Given the description of an element on the screen output the (x, y) to click on. 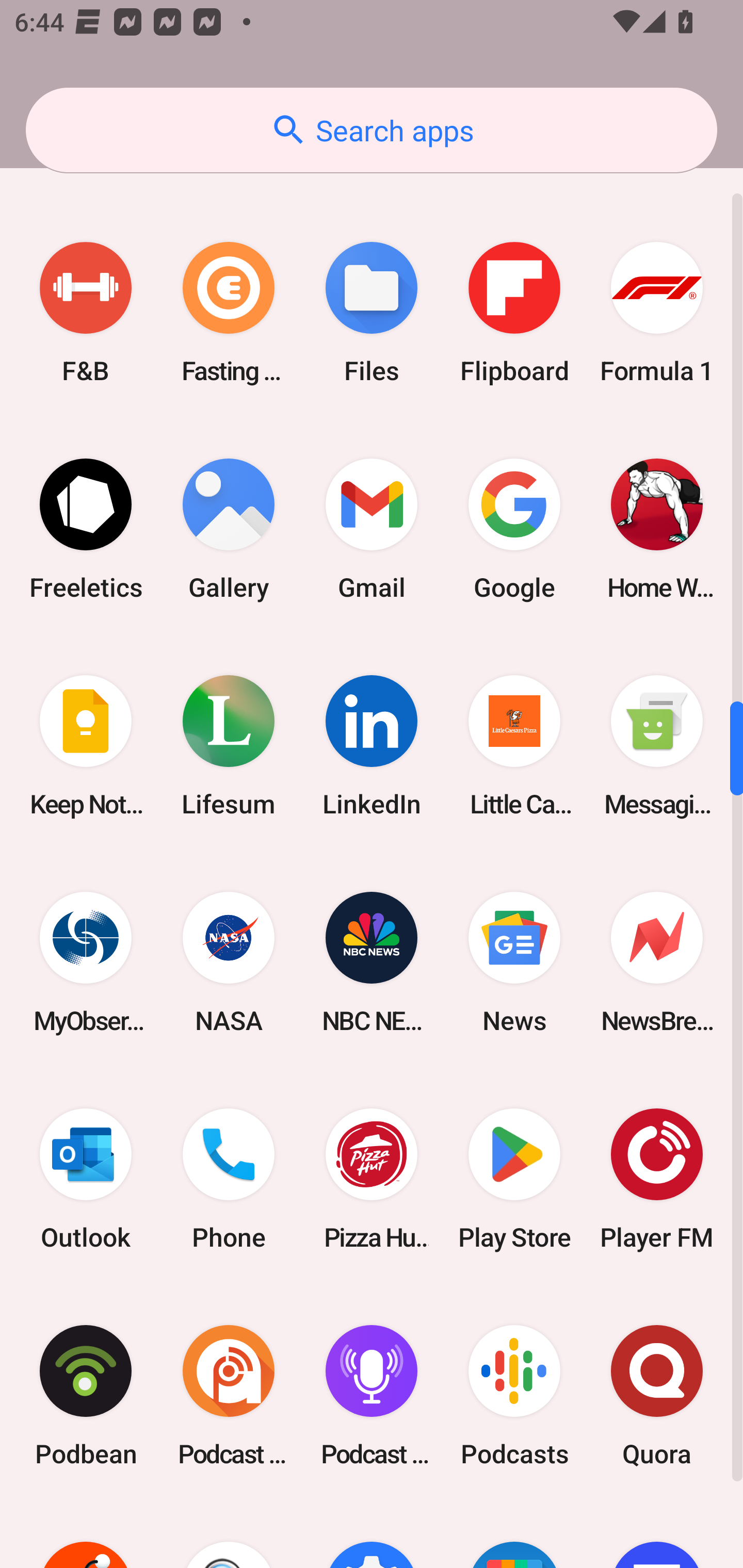
  Search apps (371, 130)
F&B (85, 311)
Fasting Coach (228, 311)
Files (371, 311)
Flipboard (514, 311)
Formula 1 (656, 311)
Freeletics (85, 529)
Gallery (228, 529)
Gmail (371, 529)
Google (514, 529)
Home Workout (656, 529)
Keep Notes (85, 746)
Lifesum (228, 746)
LinkedIn (371, 746)
Little Caesars Pizza (514, 746)
Messaging (656, 746)
MyObservatory (85, 962)
NASA (228, 962)
NBC NEWS (371, 962)
News (514, 962)
NewsBreak (656, 962)
Outlook (85, 1178)
Phone (228, 1178)
Pizza Hut HK & Macau (371, 1178)
Play Store (514, 1178)
Player FM (656, 1178)
Podbean (85, 1395)
Podcast Addict (228, 1395)
Podcast Player (371, 1395)
Podcasts (514, 1395)
Quora (656, 1395)
